Given the description of an element on the screen output the (x, y) to click on. 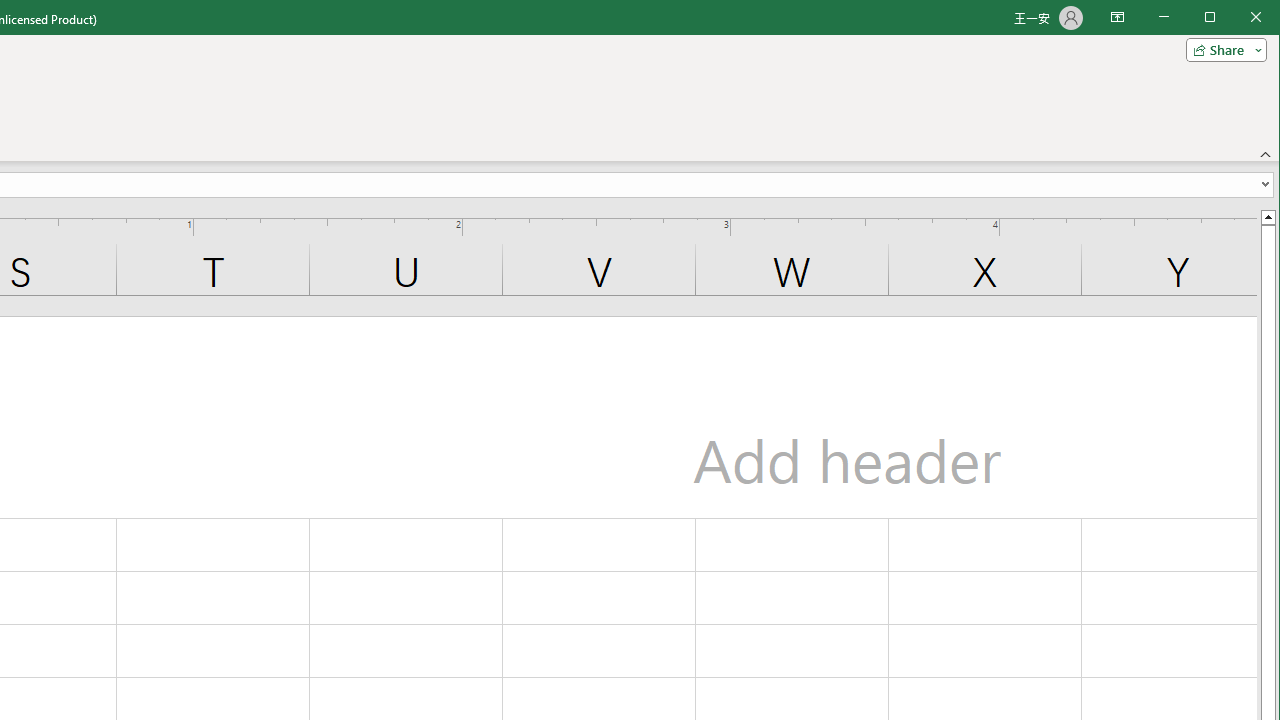
Maximize (1238, 18)
